Given the description of an element on the screen output the (x, y) to click on. 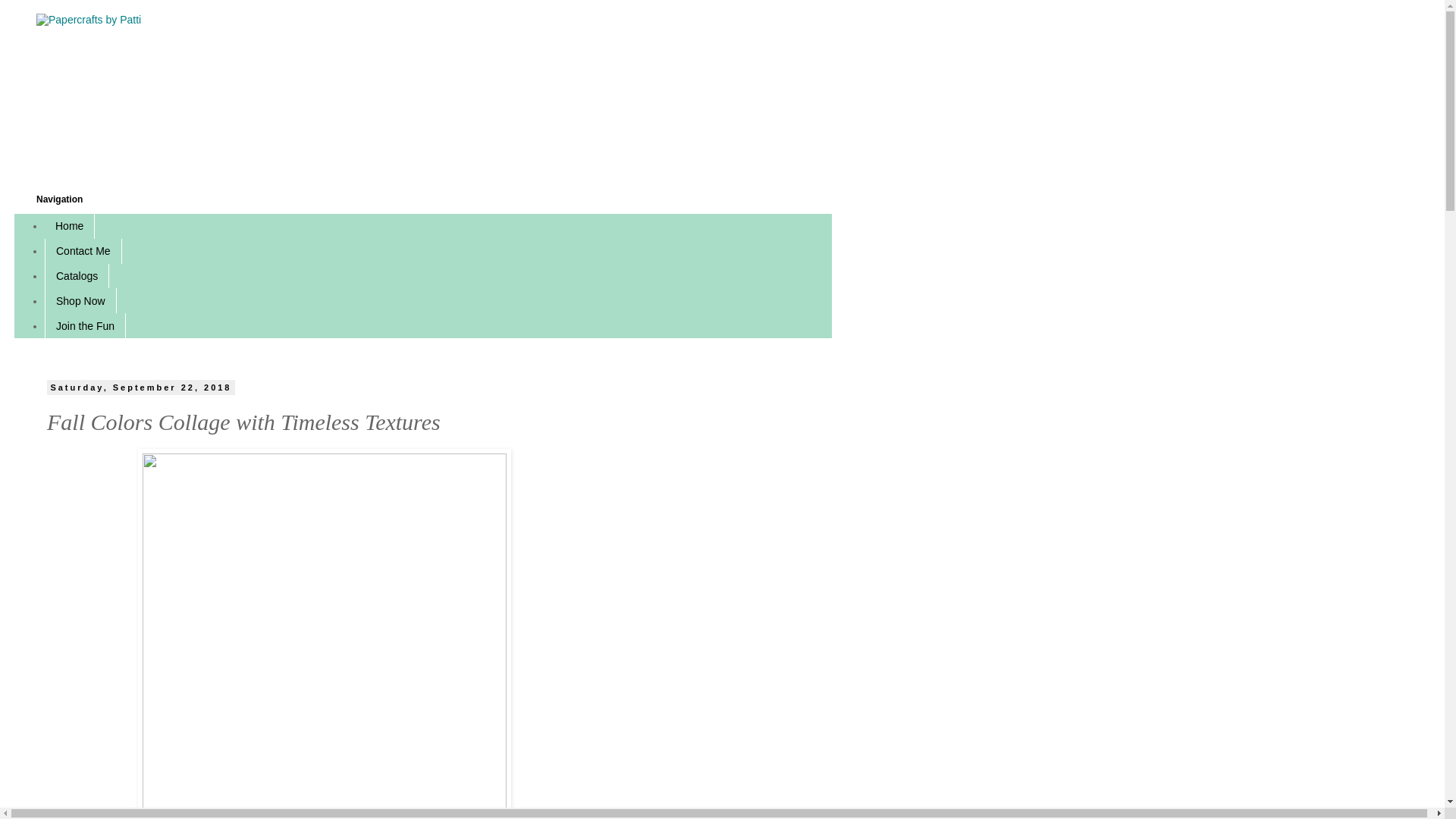
Catalogs (77, 276)
Home (69, 226)
Contact Me (83, 251)
Shop Now (80, 300)
Join the Fun (85, 325)
